Given the description of an element on the screen output the (x, y) to click on. 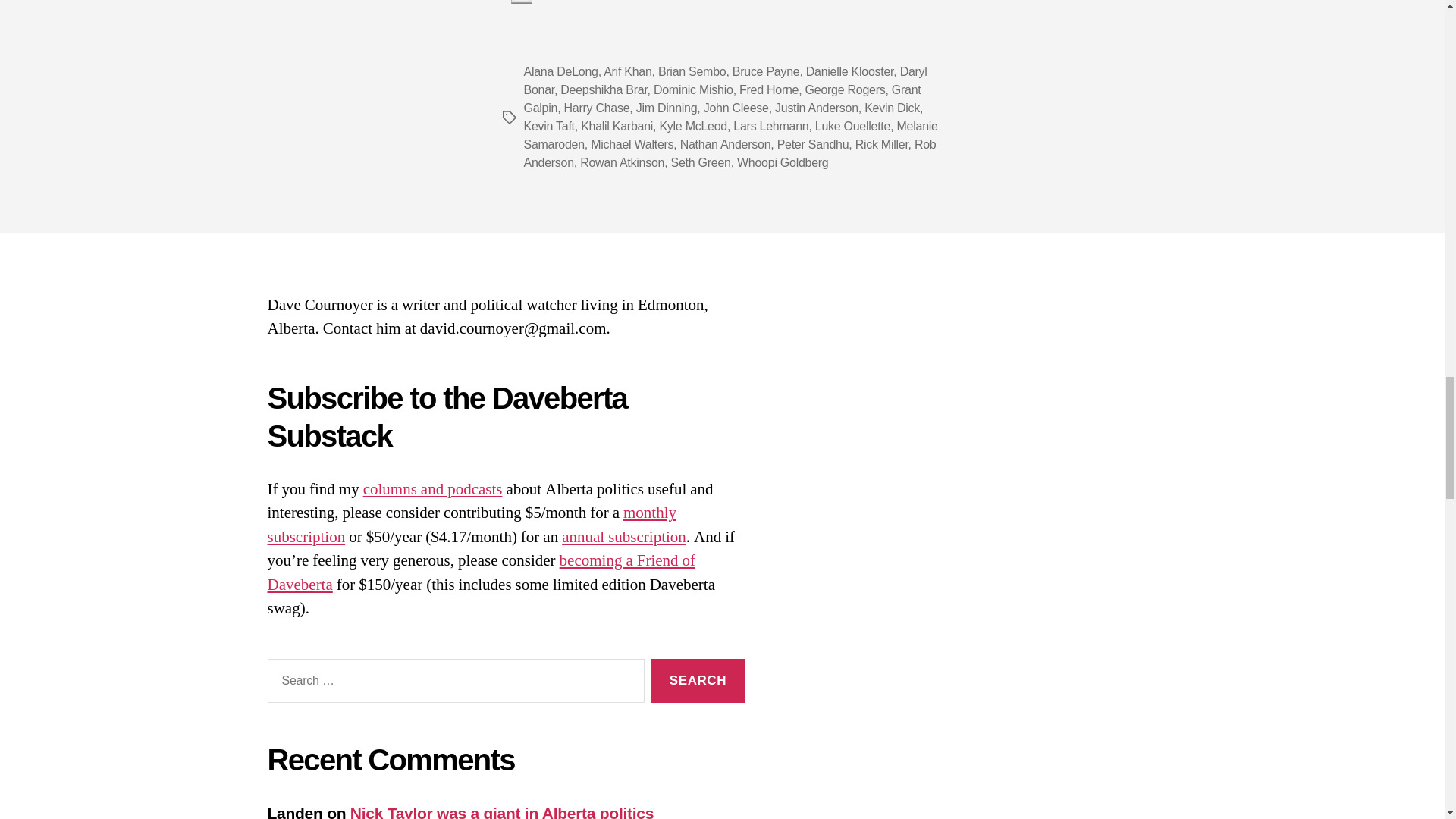
Email (520, 2)
Search (697, 681)
Search (697, 681)
